Given the description of an element on the screen output the (x, y) to click on. 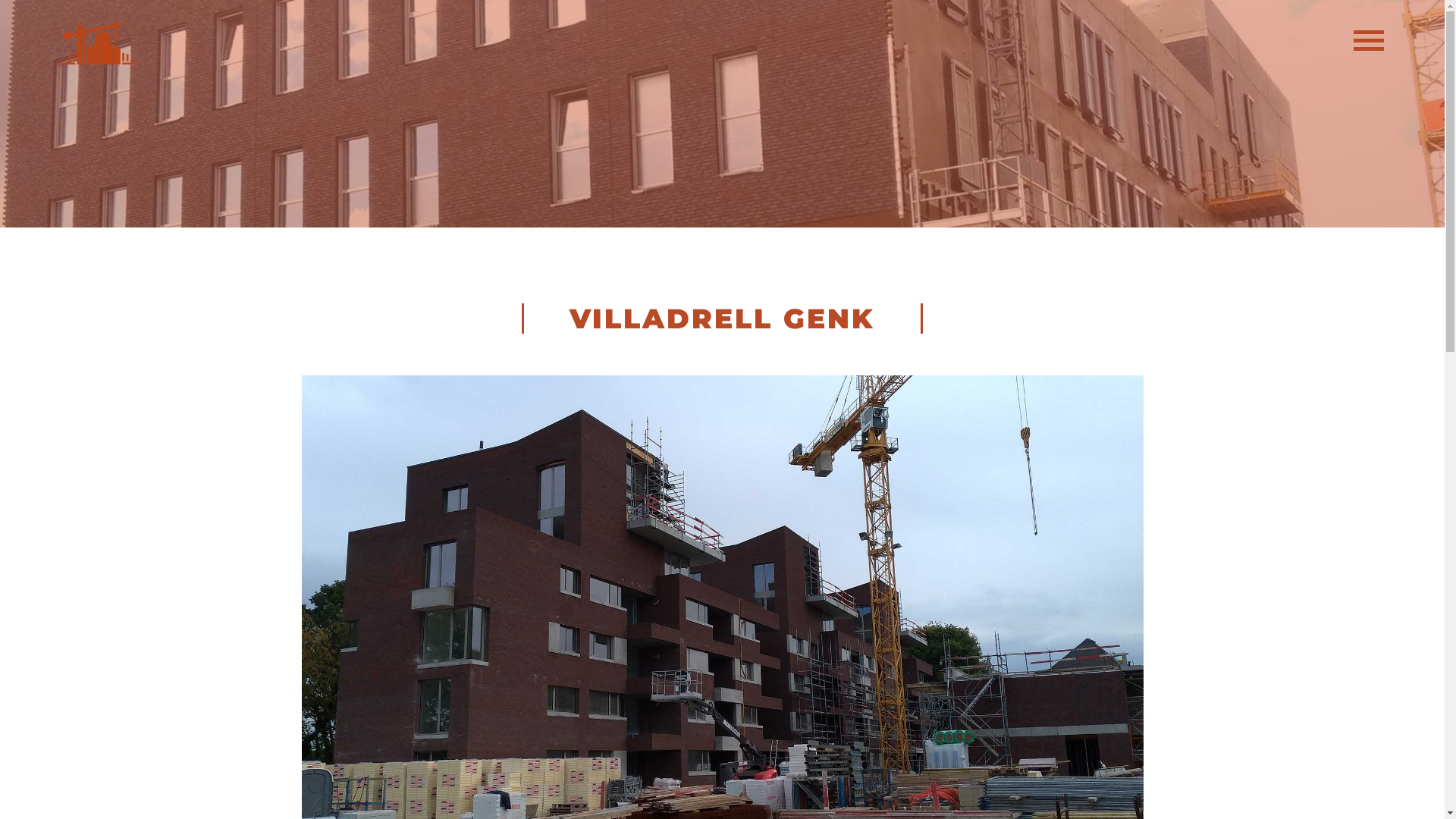
hamburger menu Element type: hover (1368, 45)
